Given the description of an element on the screen output the (x, y) to click on. 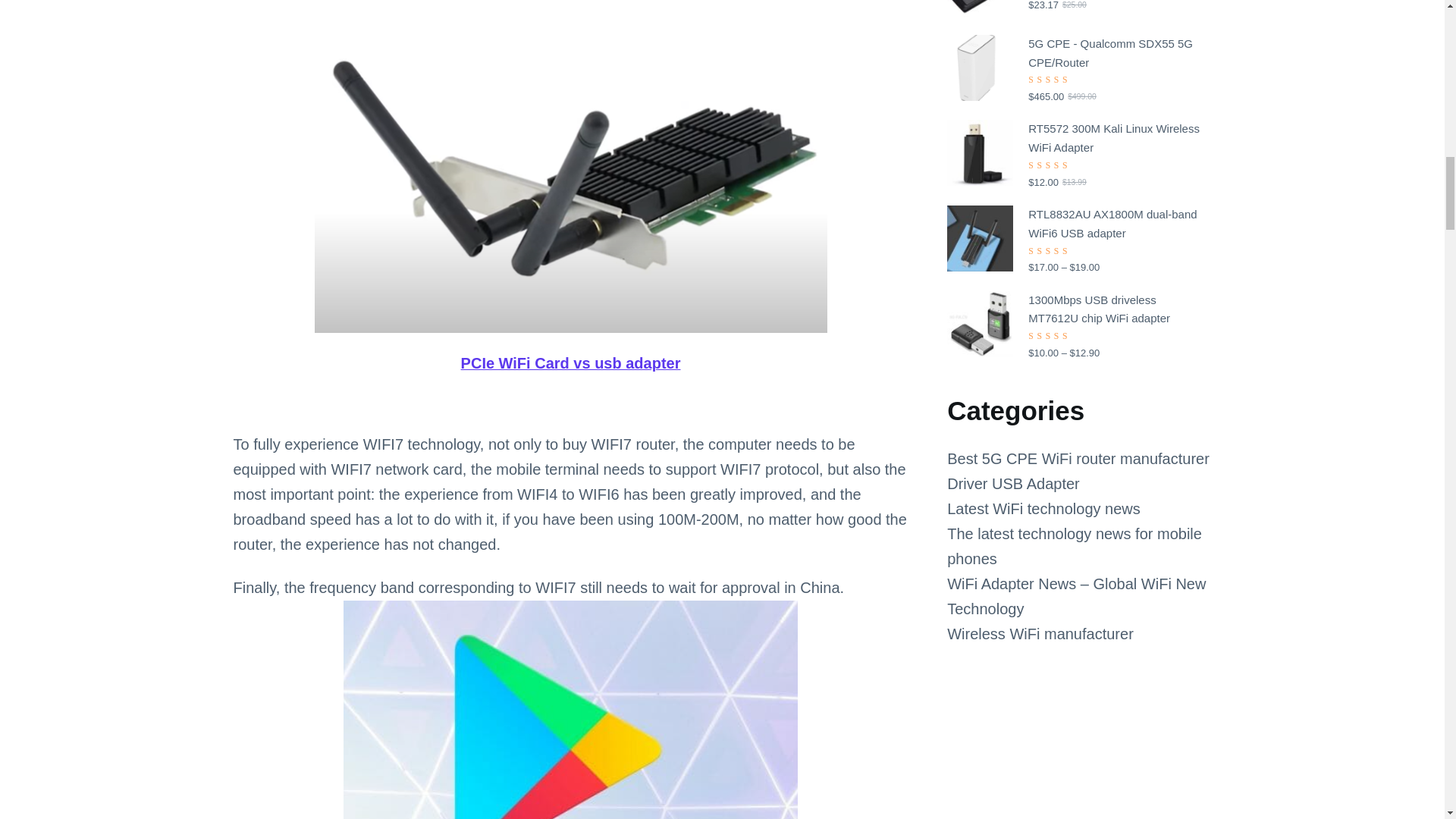
vpn issues (570, 709)
PCIe WiFi Card vs usb adapter (571, 364)
